Given the description of an element on the screen output the (x, y) to click on. 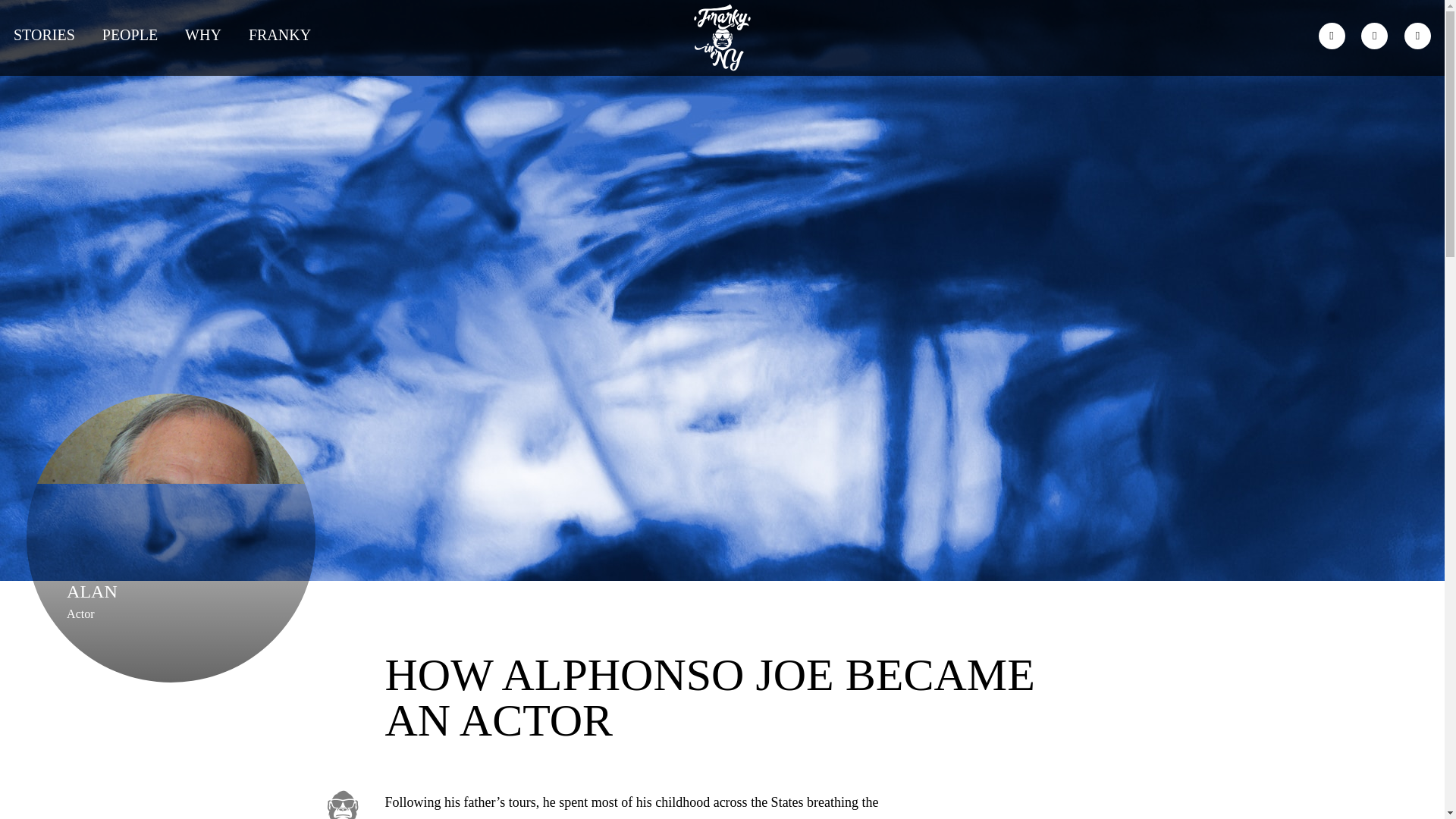
STORIES (44, 34)
PEOPLE (129, 34)
FRANKY (279, 34)
WHY (202, 34)
